Given the description of an element on the screen output the (x, y) to click on. 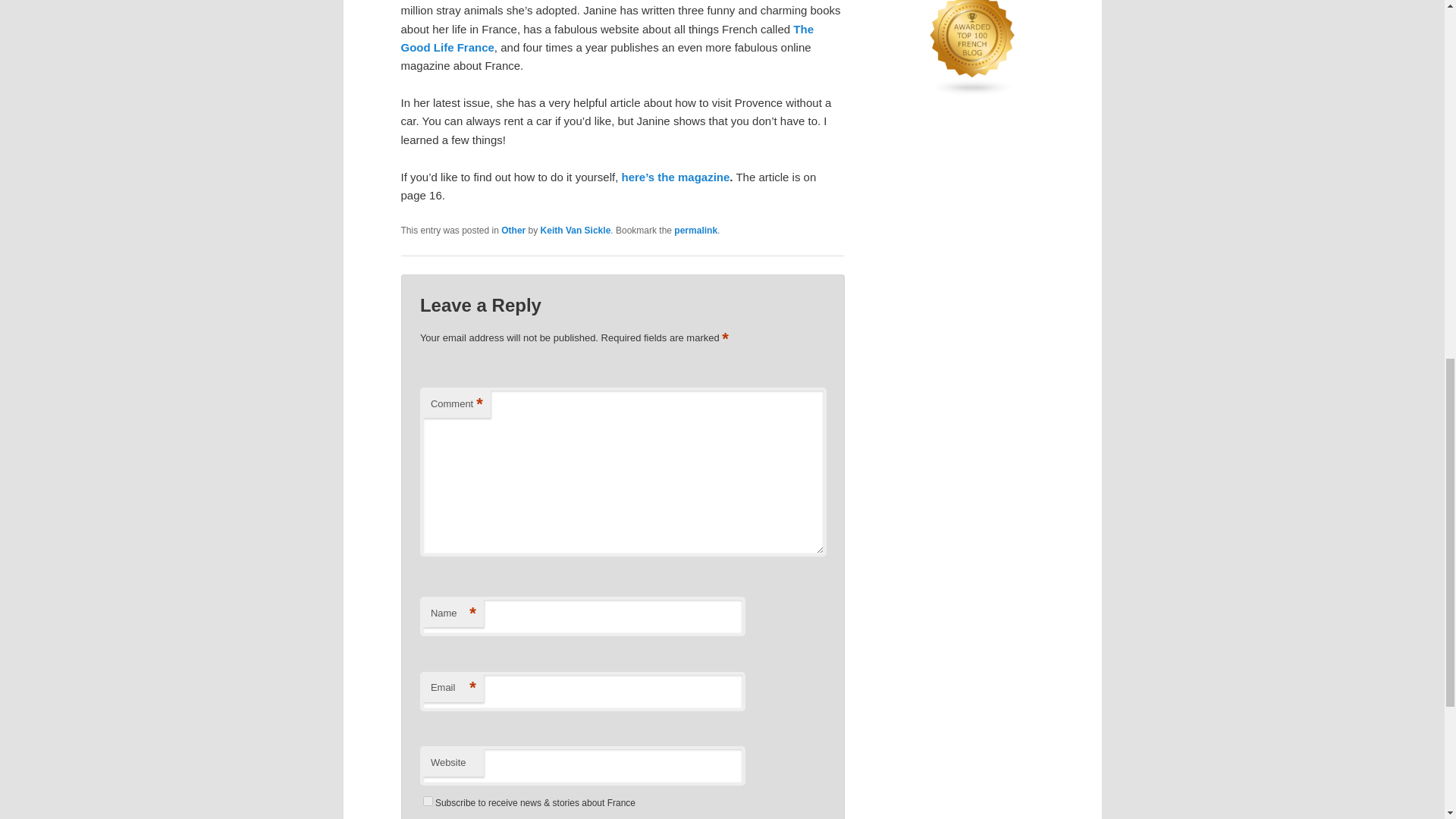
The Good Life France (606, 38)
1 (427, 800)
Other (512, 230)
permalink (695, 230)
Keith Van Sickle (575, 230)
Permalink to Visiting Provence Without a Car (695, 230)
